Given the description of an element on the screen output the (x, y) to click on. 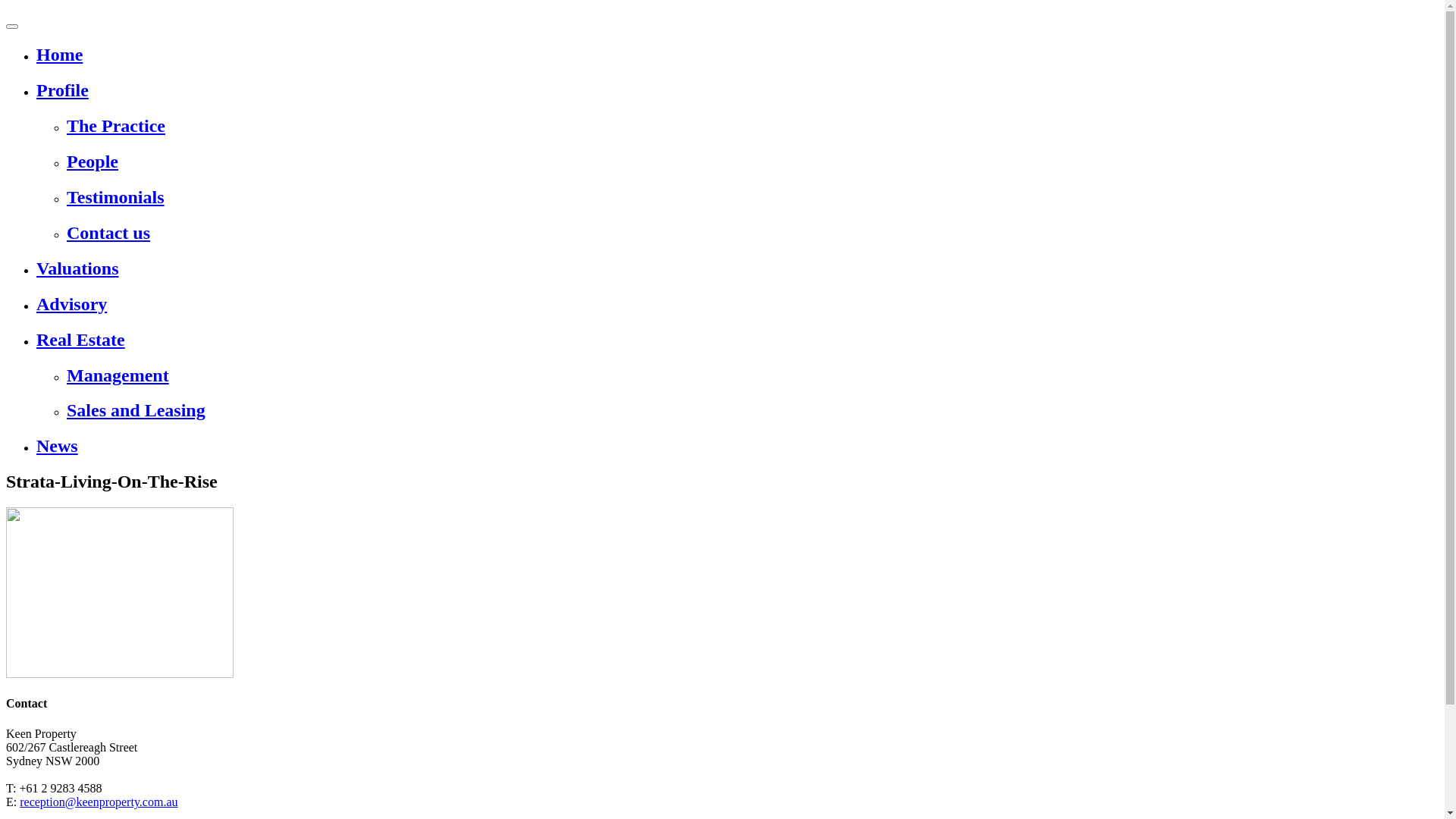
People Element type: text (752, 161)
Valuations Element type: text (737, 268)
reception@keenproperty.com.au Element type: text (98, 801)
Contact us Element type: text (752, 232)
Sales and Leasing Element type: text (752, 410)
Management Element type: text (752, 375)
The Practice Element type: text (752, 126)
Testimonials Element type: text (752, 197)
Advisory Element type: text (737, 304)
Profile Element type: text (737, 90)
Real Estate Element type: text (737, 339)
Home Element type: text (737, 54)
News Element type: text (737, 446)
